Given the description of an element on the screen output the (x, y) to click on. 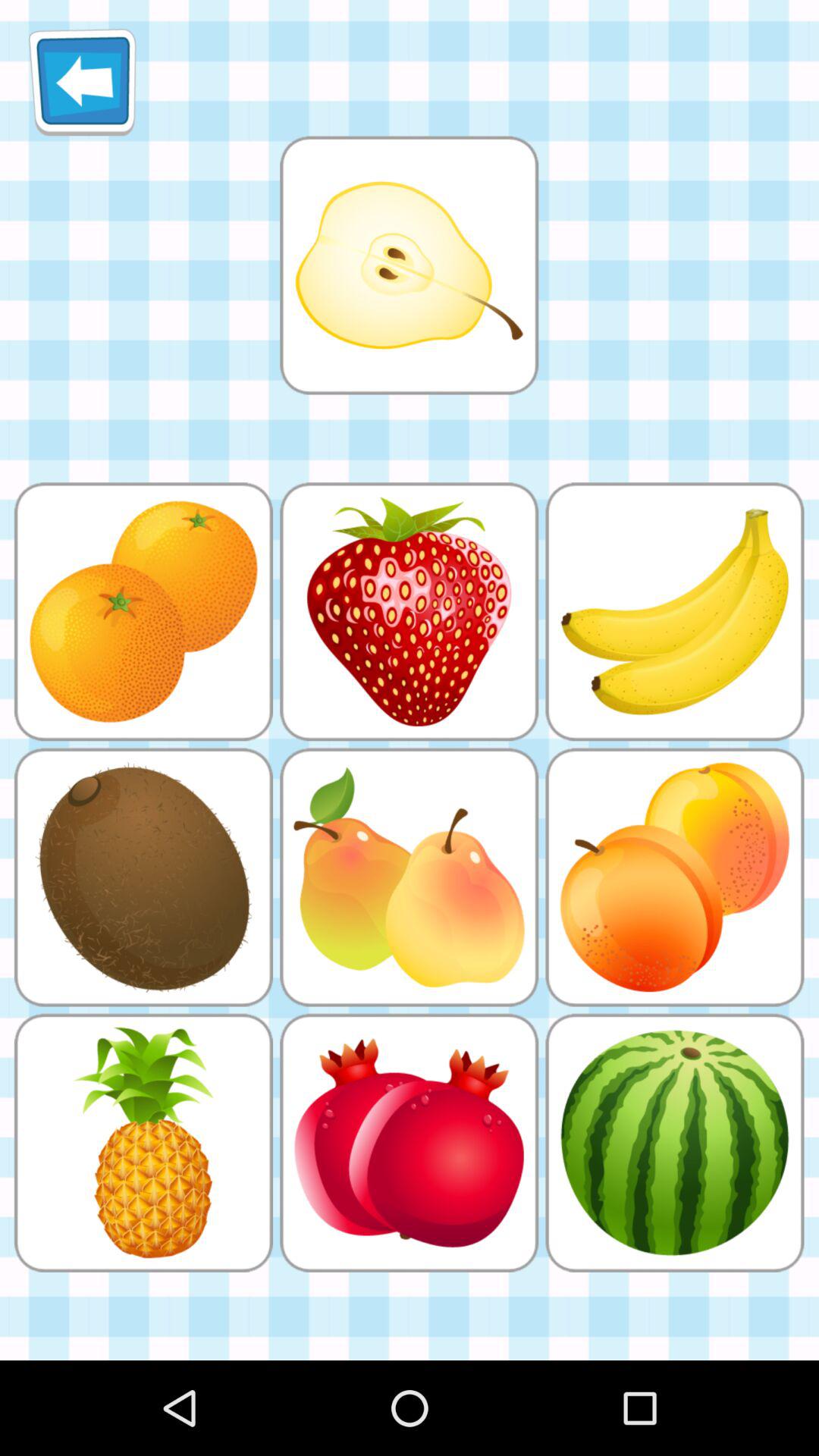
back button (82, 82)
